Given the description of an element on the screen output the (x, y) to click on. 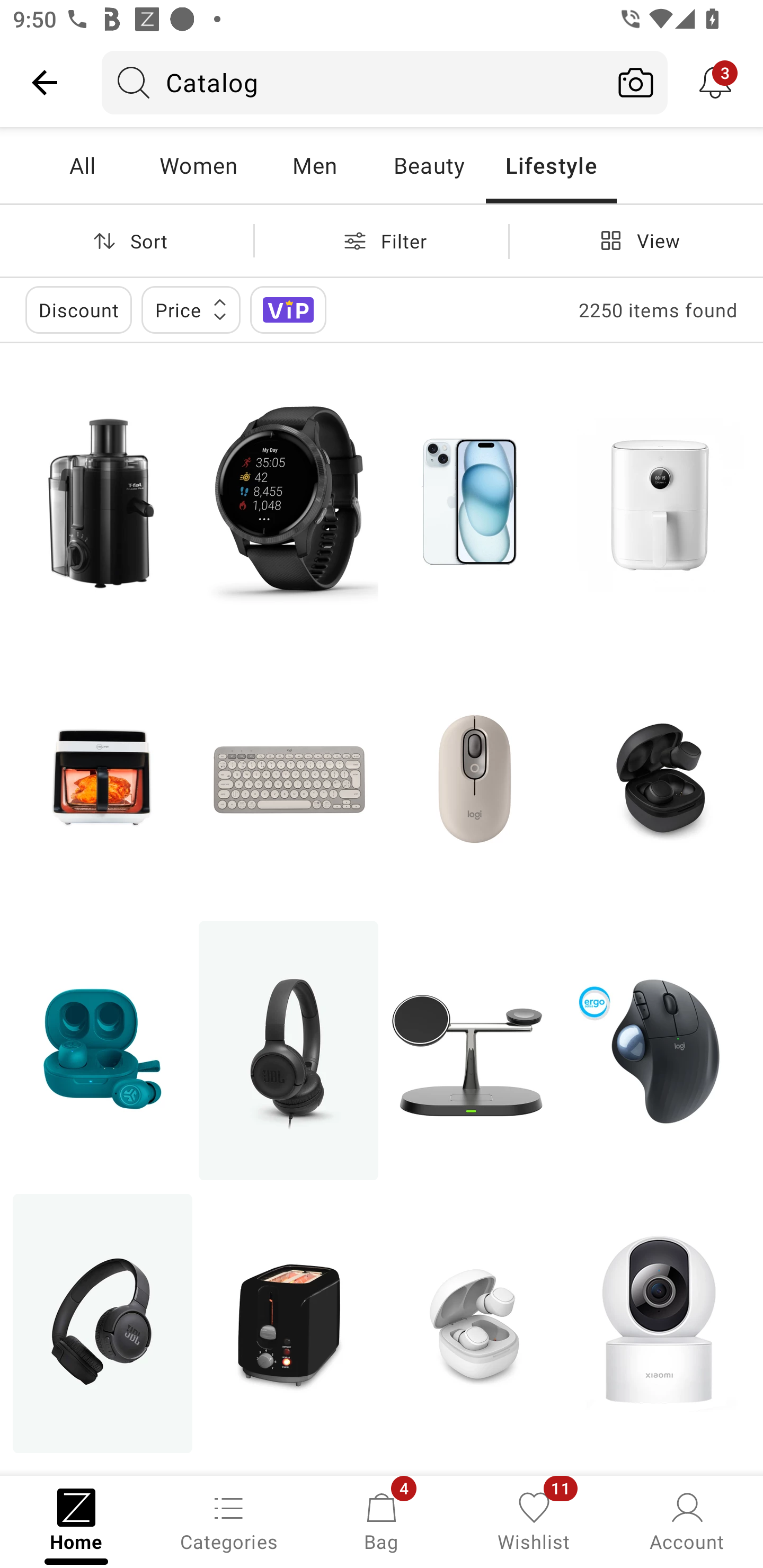
Navigate up (44, 82)
Catalog (352, 82)
All (82, 165)
Women (198, 165)
Men (314, 165)
Beauty (428, 165)
Sort (126, 240)
Filter (381, 240)
View (636, 240)
Discount (78, 309)
Price (190, 309)
Categories (228, 1519)
Bag, 4 new notifications Bag (381, 1519)
Wishlist, 11 new notifications Wishlist (533, 1519)
Account (686, 1519)
